Given the description of an element on the screen output the (x, y) to click on. 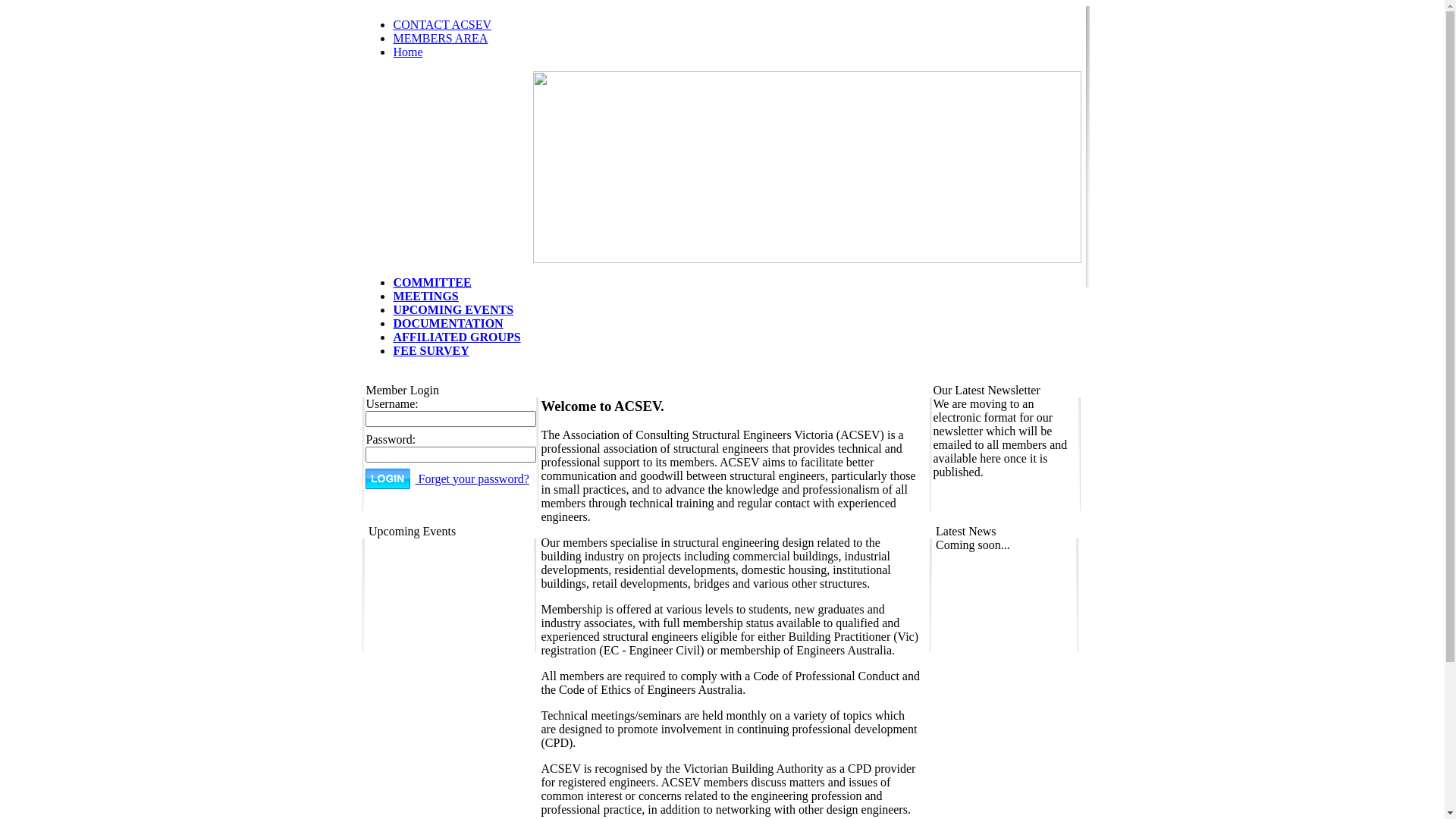
Home Element type: text (407, 51)
CONTACT ACSEV Element type: text (441, 24)
MEETINGS Element type: text (425, 295)
COMMITTEE Element type: text (431, 282)
AFFILIATED GROUPS Element type: text (456, 336)
UPCOMING EVENTS Element type: text (452, 309)
 Forget your password? Element type: text (471, 477)
DOCUMENTATION Element type: text (447, 322)
MEMBERS AREA Element type: text (439, 37)
FEE SURVEY Element type: text (430, 350)
Login Element type: text (387, 478)
